Given the description of an element on the screen output the (x, y) to click on. 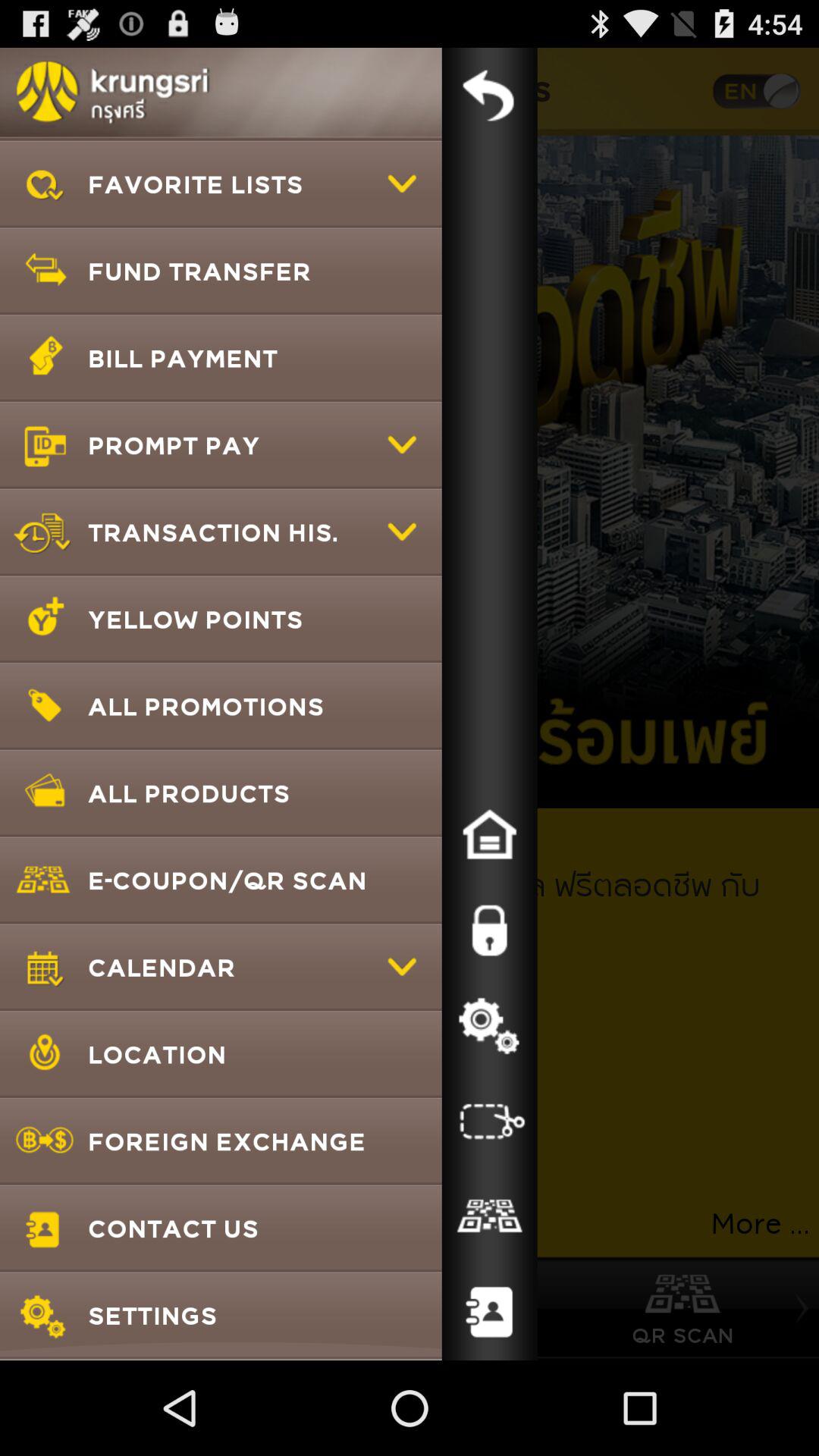
setting button (489, 1025)
